Given the description of an element on the screen output the (x, y) to click on. 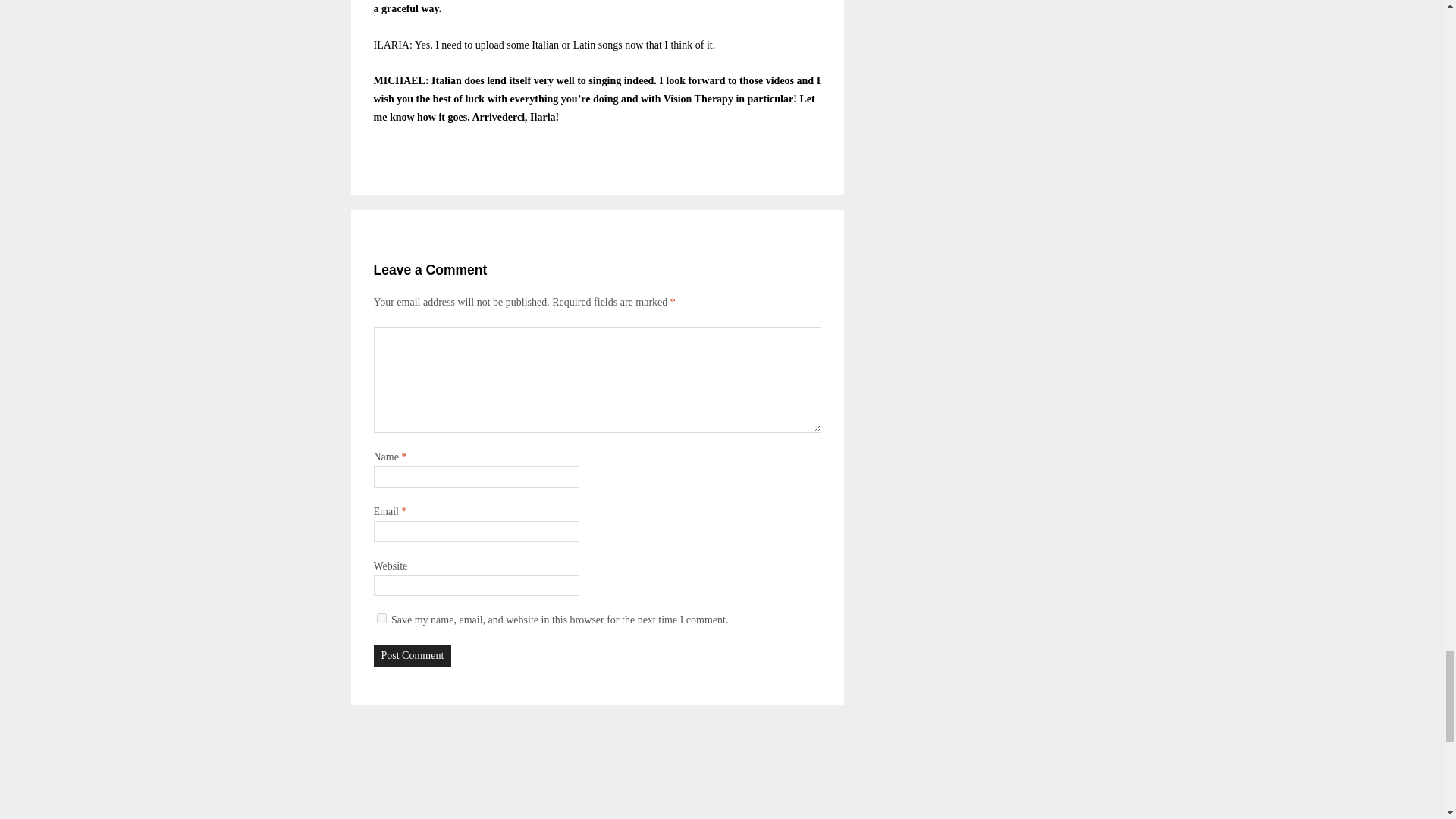
yes (380, 618)
Post Comment (411, 655)
